Given the description of an element on the screen output the (x, y) to click on. 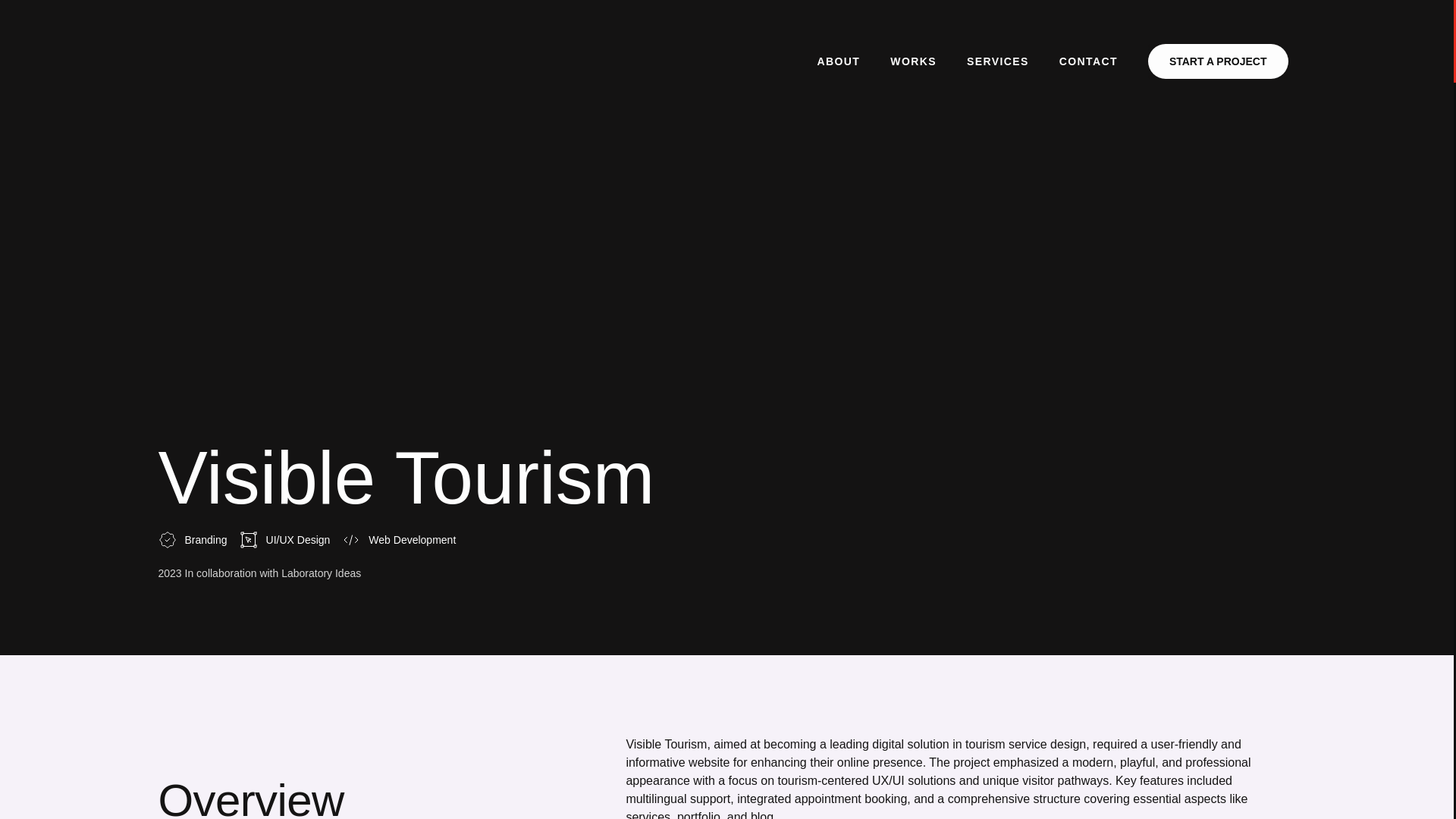
CONTACT (1087, 61)
START A PROJECT (1218, 61)
WORKS (913, 61)
SERVICES (997, 61)
ABOUT (838, 61)
